Given the description of an element on the screen output the (x, y) to click on. 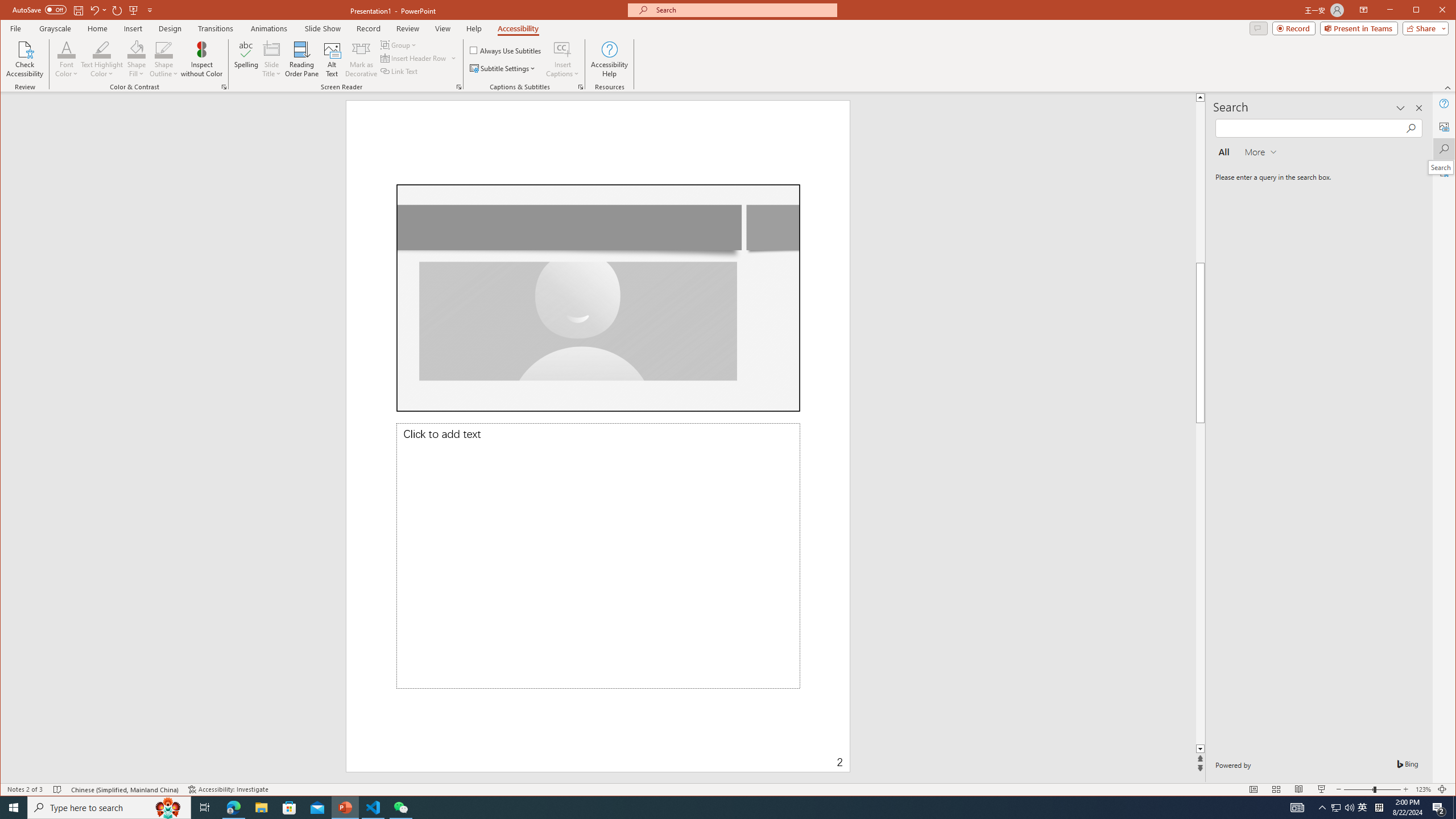
Accessibility Help (608, 59)
Always Use Subtitles (505, 49)
Link Text (399, 70)
Reading Order Pane (301, 59)
Shape Outline Blue, Accent 1 (163, 48)
